Given the description of an element on the screen output the (x, y) to click on. 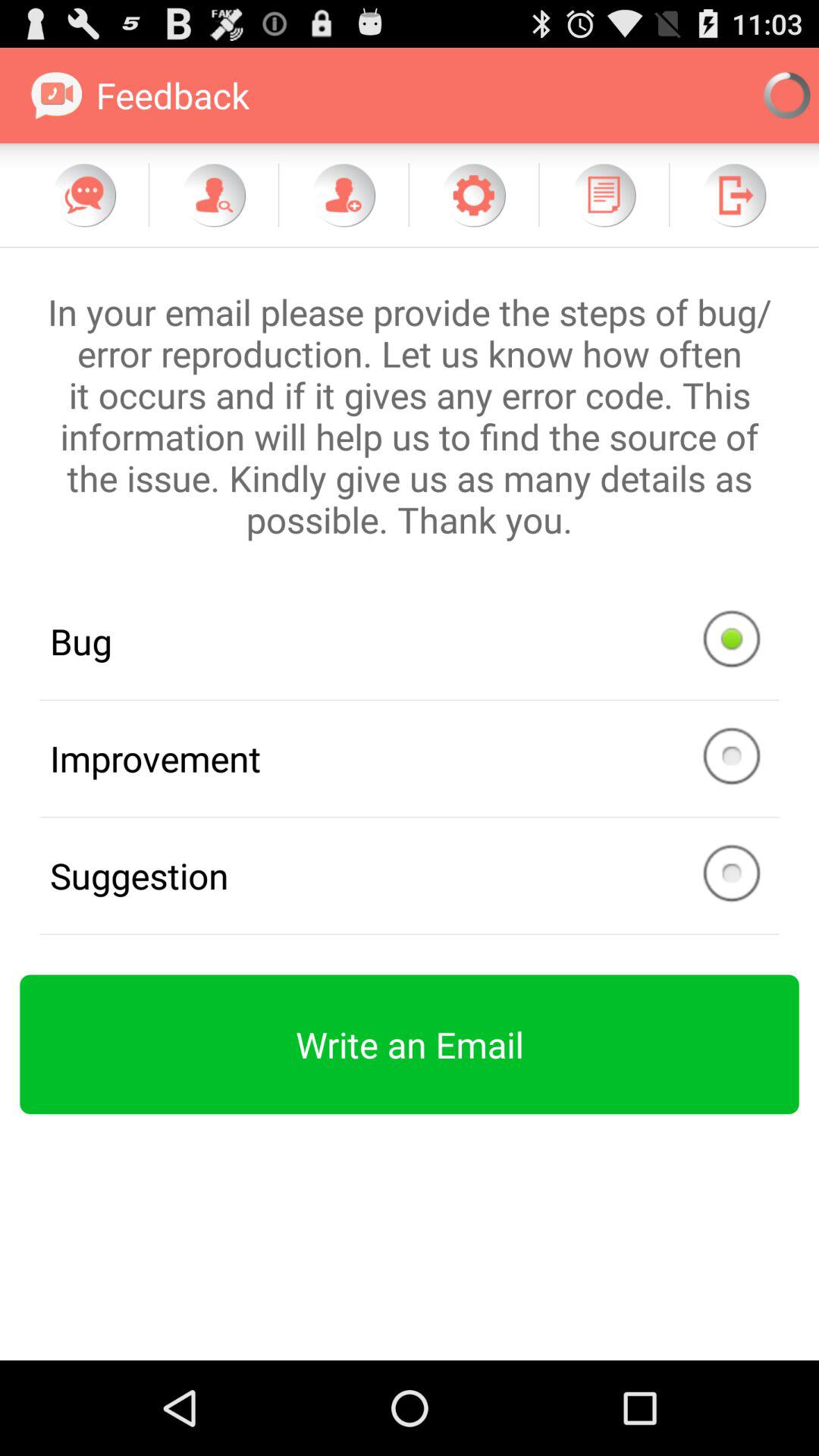
turn on item below feedback (213, 194)
